Given the description of an element on the screen output the (x, y) to click on. 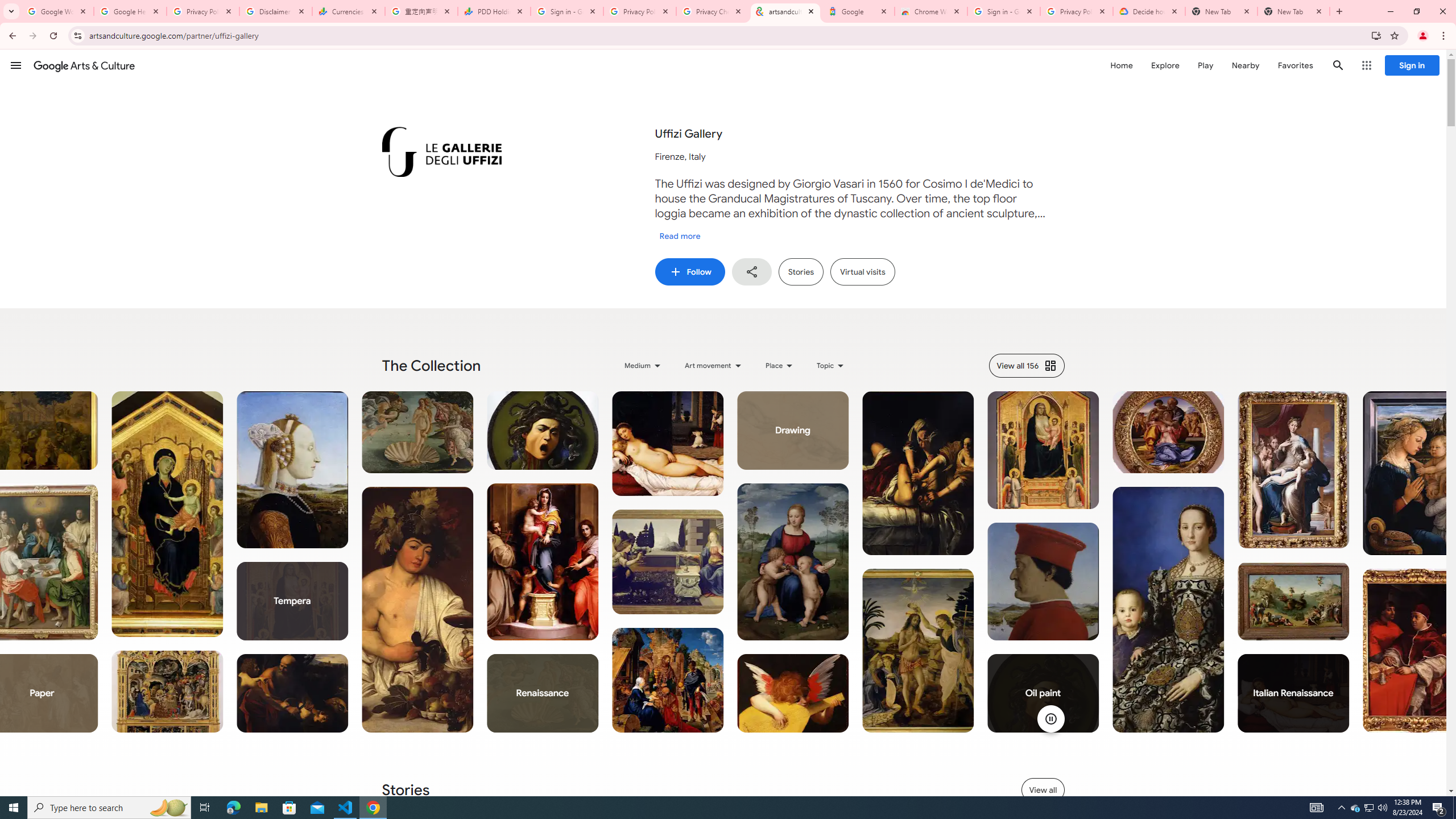
Google Arts & Culture (84, 65)
